Given the description of an element on the screen output the (x, y) to click on. 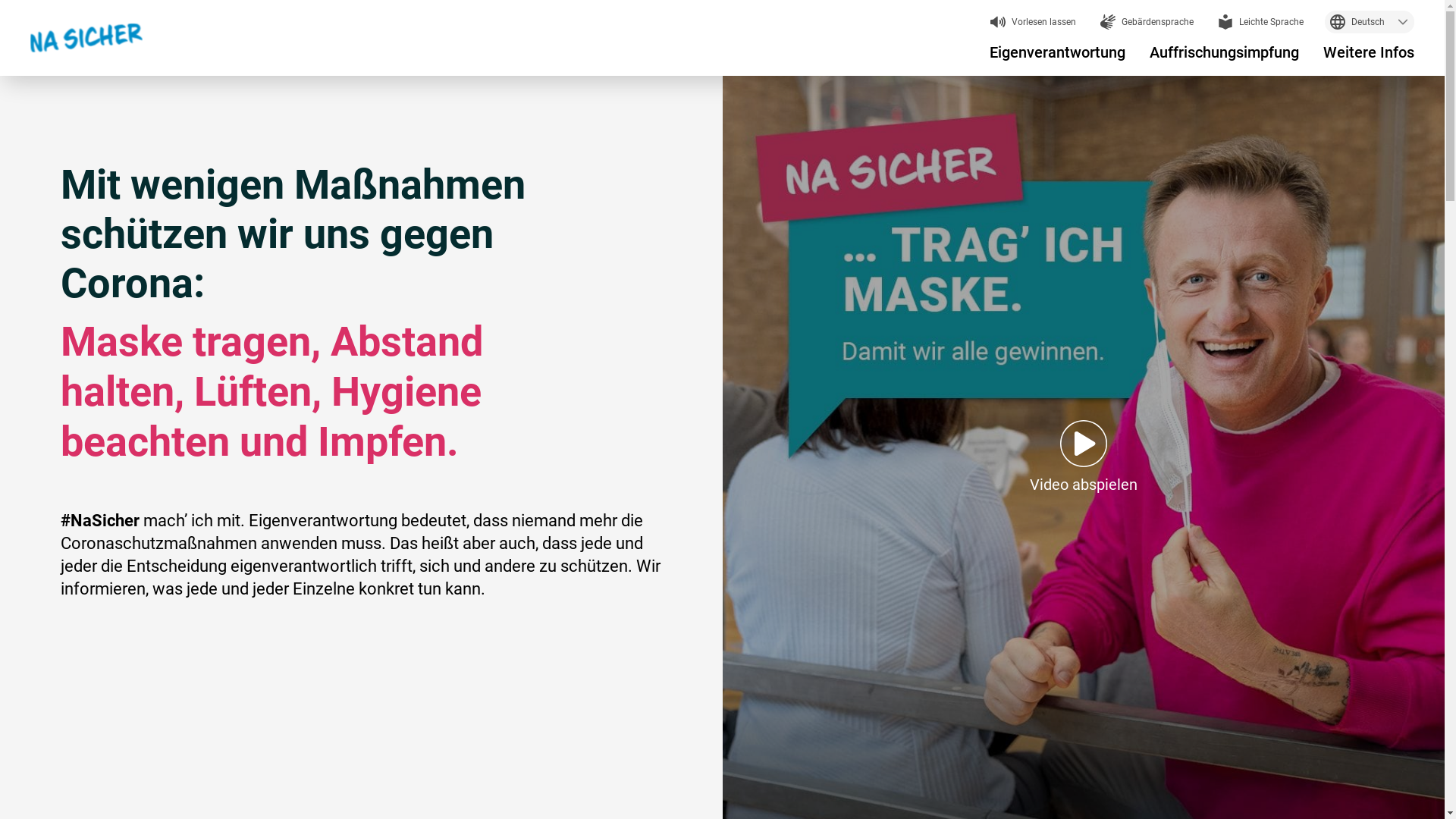
Deutsch Element type: text (1369, 21)
Eigenverantwortung Element type: text (1057, 51)
Weitere Infos Element type: text (1368, 51)
Vorlesen lassen Element type: text (1033, 21)
Auffrischungsimpfung Element type: text (1224, 51)
Leichte Sprache Element type: text (1260, 21)
